Given the description of an element on the screen output the (x, y) to click on. 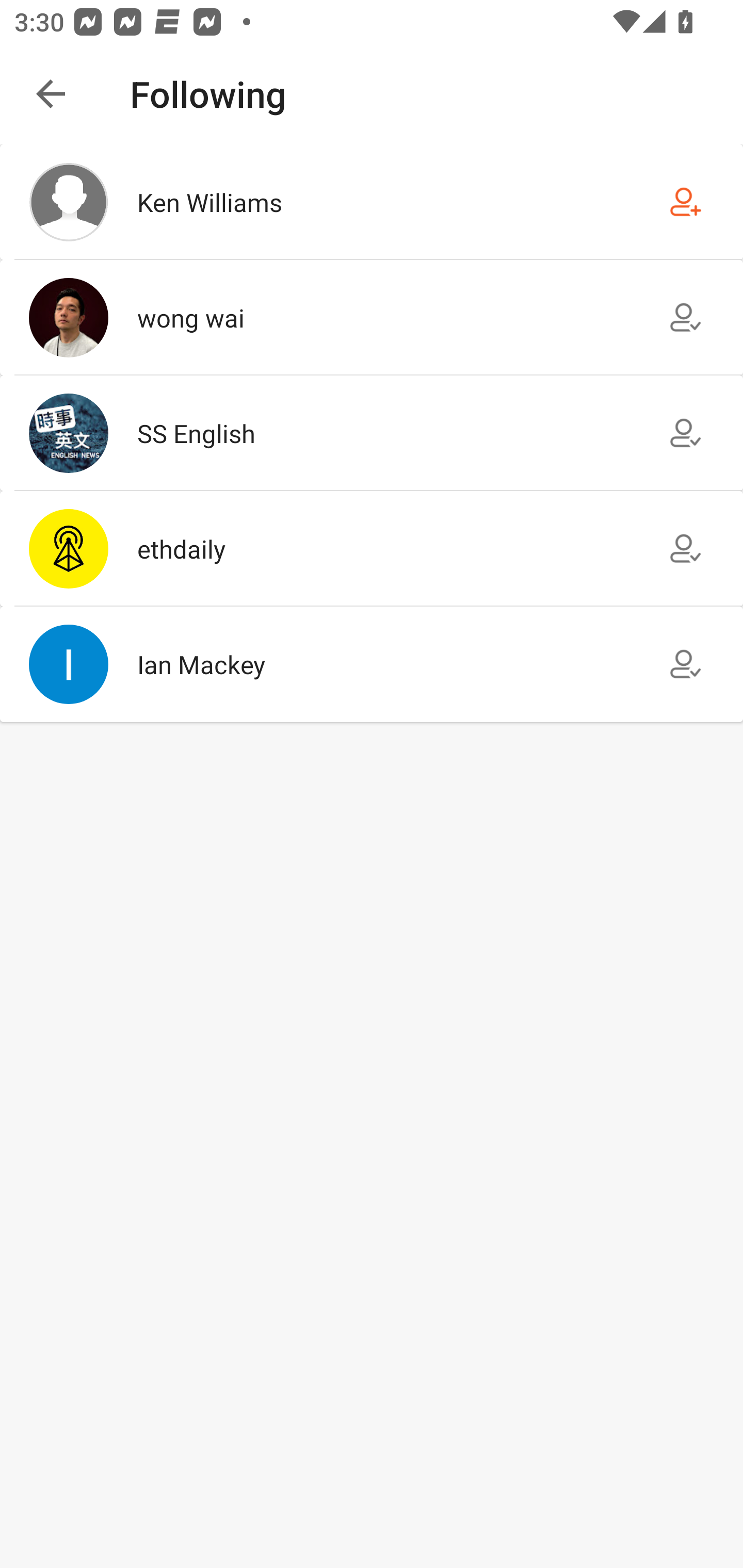
Navigate up (50, 93)
Ken Williams (371, 202)
wong wai (371, 317)
SS English (371, 432)
ethdaily (371, 548)
Ian Mackey (371, 664)
